Given the description of an element on the screen output the (x, y) to click on. 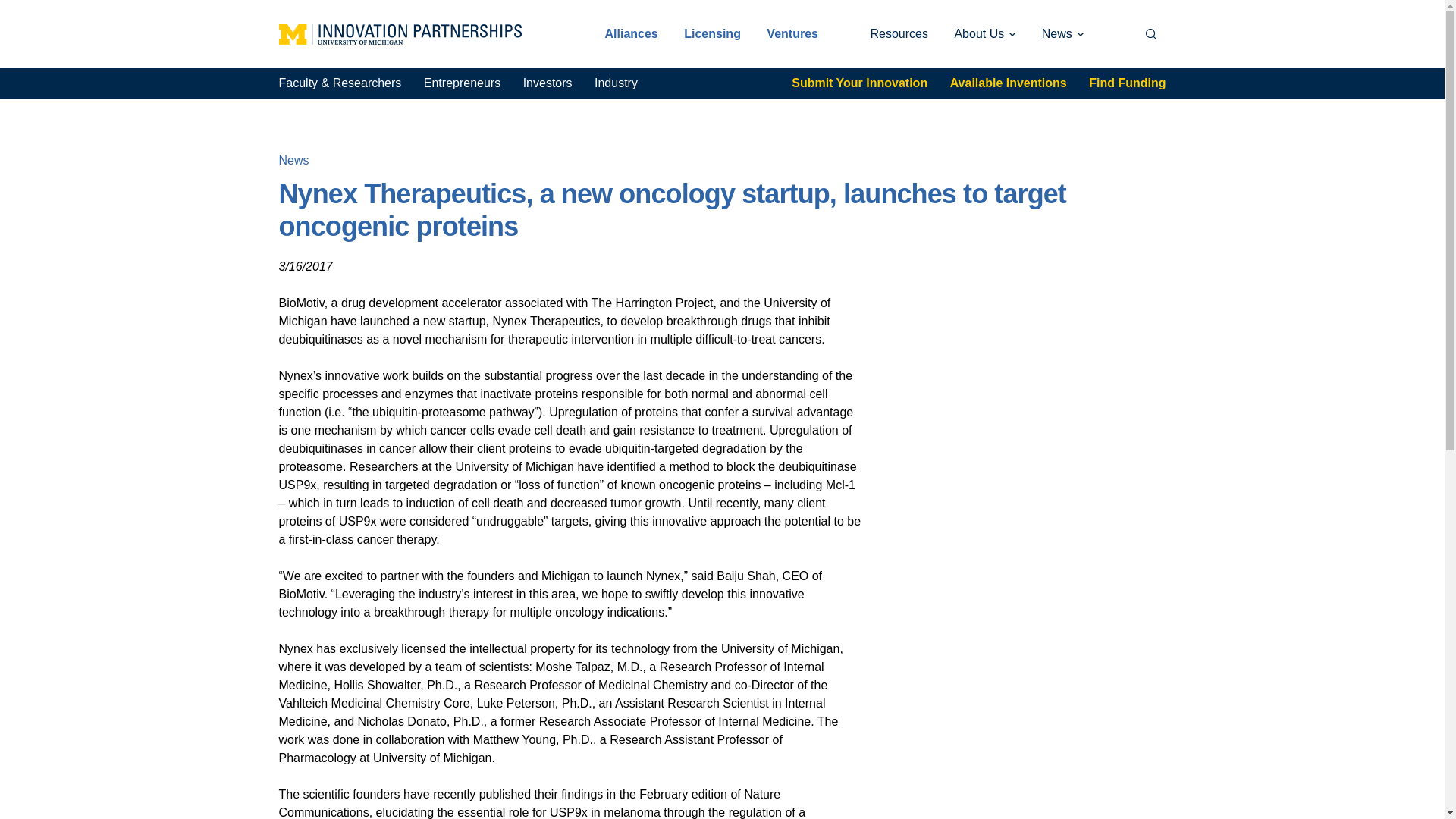
Investors (547, 82)
Available Inventions (1008, 82)
News (1062, 33)
Industry (615, 82)
Ventures (792, 33)
Submit Your Innovation (859, 82)
Entrepreneurs (461, 82)
Licensing (712, 33)
About Us (983, 33)
Alliances (631, 33)
Resources (899, 33)
